Given the description of an element on the screen output the (x, y) to click on. 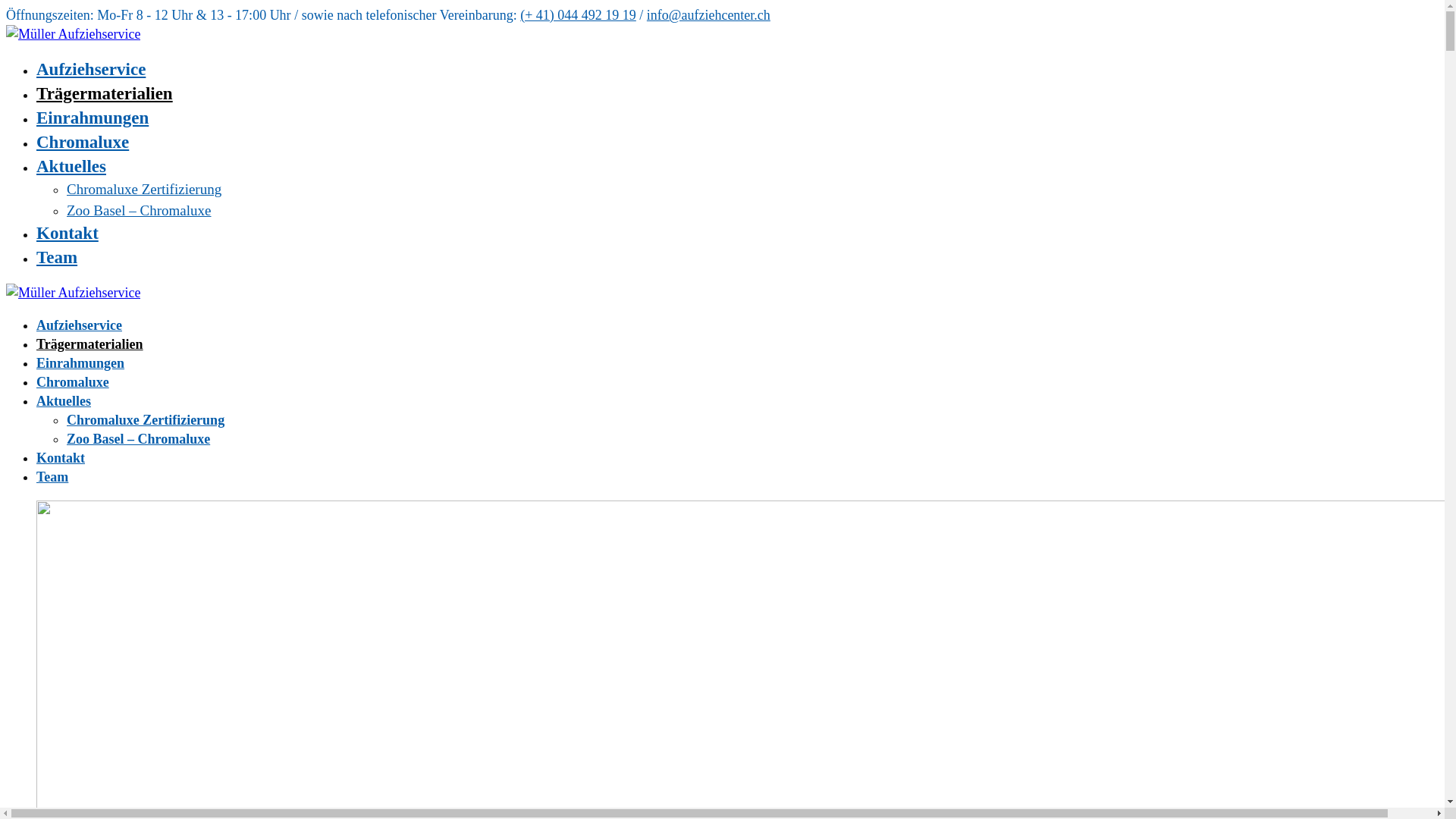
Chromaluxe Zertifizierung Element type: text (143, 189)
(+ 41) 044 492 19 19 Element type: text (578, 14)
Aufziehservice Element type: text (90, 68)
Aufziehservice Element type: text (79, 324)
info@aufziehcenter.ch Element type: text (708, 14)
Aktuelles Element type: text (63, 400)
Team Element type: text (56, 256)
Chromaluxe Element type: text (82, 141)
Einrahmungen Element type: text (80, 362)
Chromaluxe Zertifizierung Element type: text (145, 419)
Einrahmungen Element type: text (92, 117)
Team Element type: text (52, 476)
Kontakt Element type: text (60, 457)
Kontakt Element type: text (67, 232)
Aktuelles Element type: text (71, 165)
Chromaluxe Element type: text (72, 381)
